Given the description of an element on the screen output the (x, y) to click on. 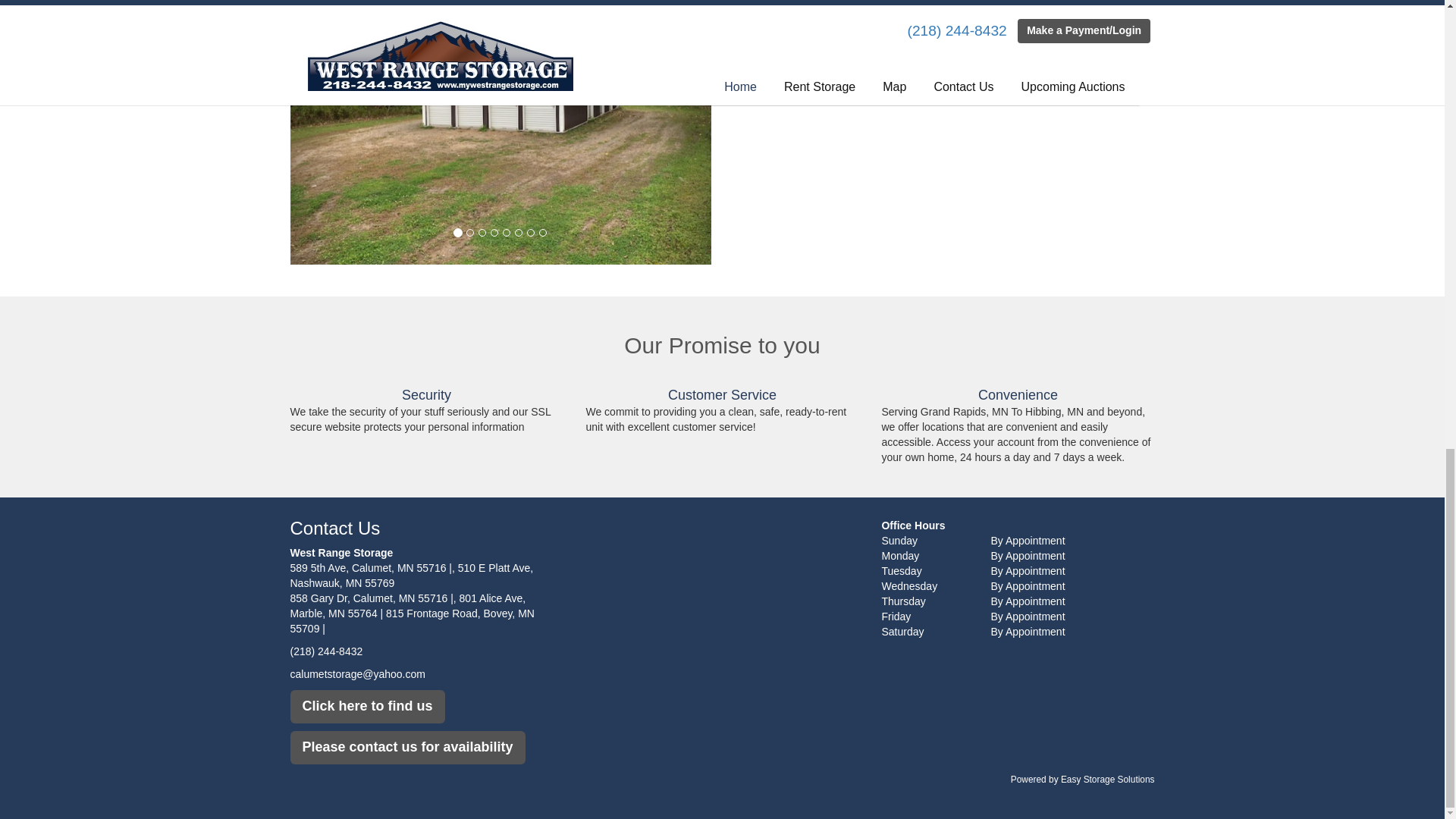
Please contact us for availability (406, 747)
Easy Storage Solutions (1107, 778)
Click here to find us (366, 706)
